Given the description of an element on the screen output the (x, y) to click on. 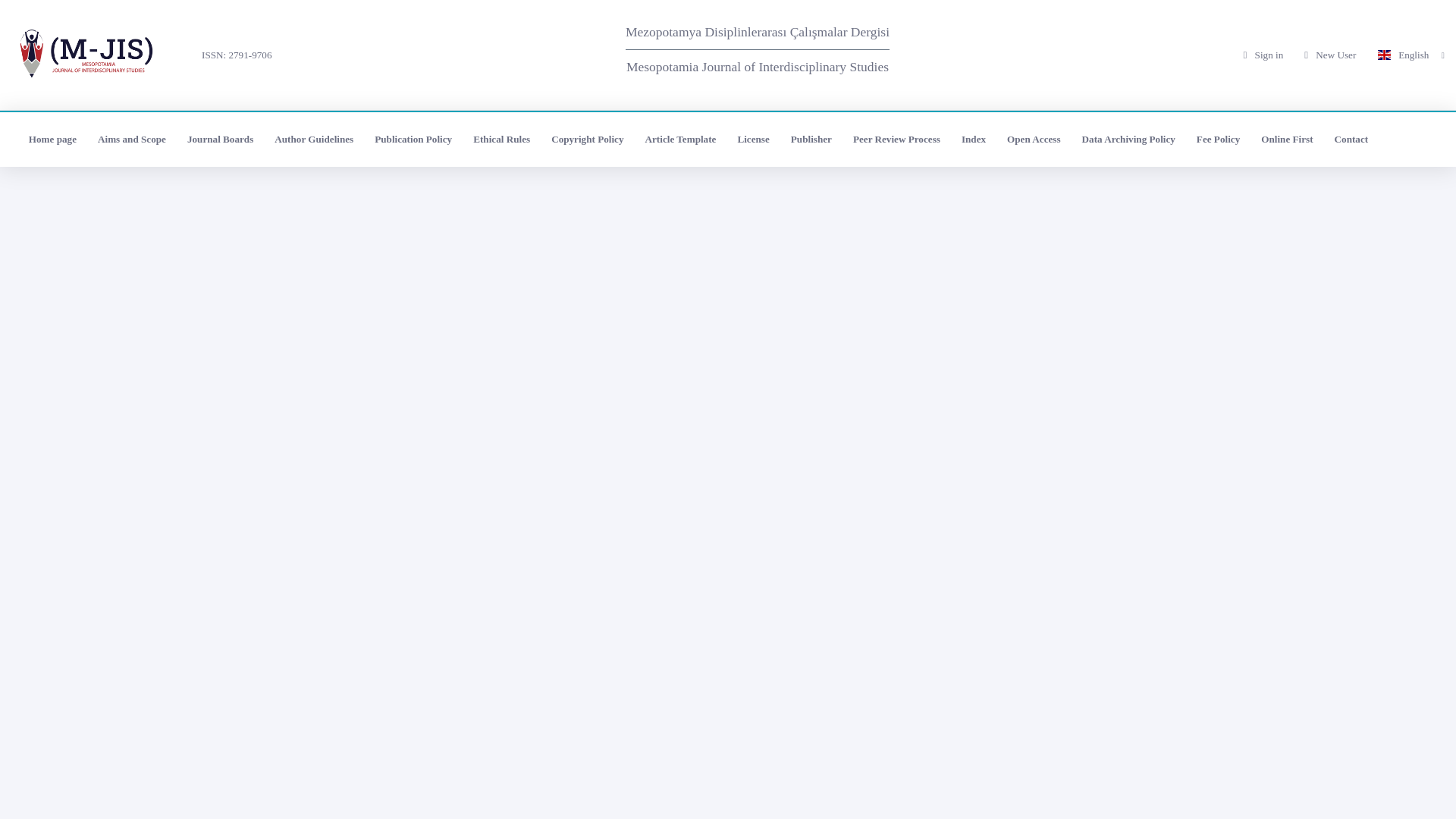
Contact (1350, 139)
Data Archiving Policy (1128, 139)
Journal Boards (219, 139)
Fee Policy (1218, 139)
Peer Review Process (896, 139)
Article Template (680, 139)
Author Guidelines (313, 139)
Copyright Policy (586, 139)
License (752, 139)
Aims and Scope (131, 139)
